Given the description of an element on the screen output the (x, y) to click on. 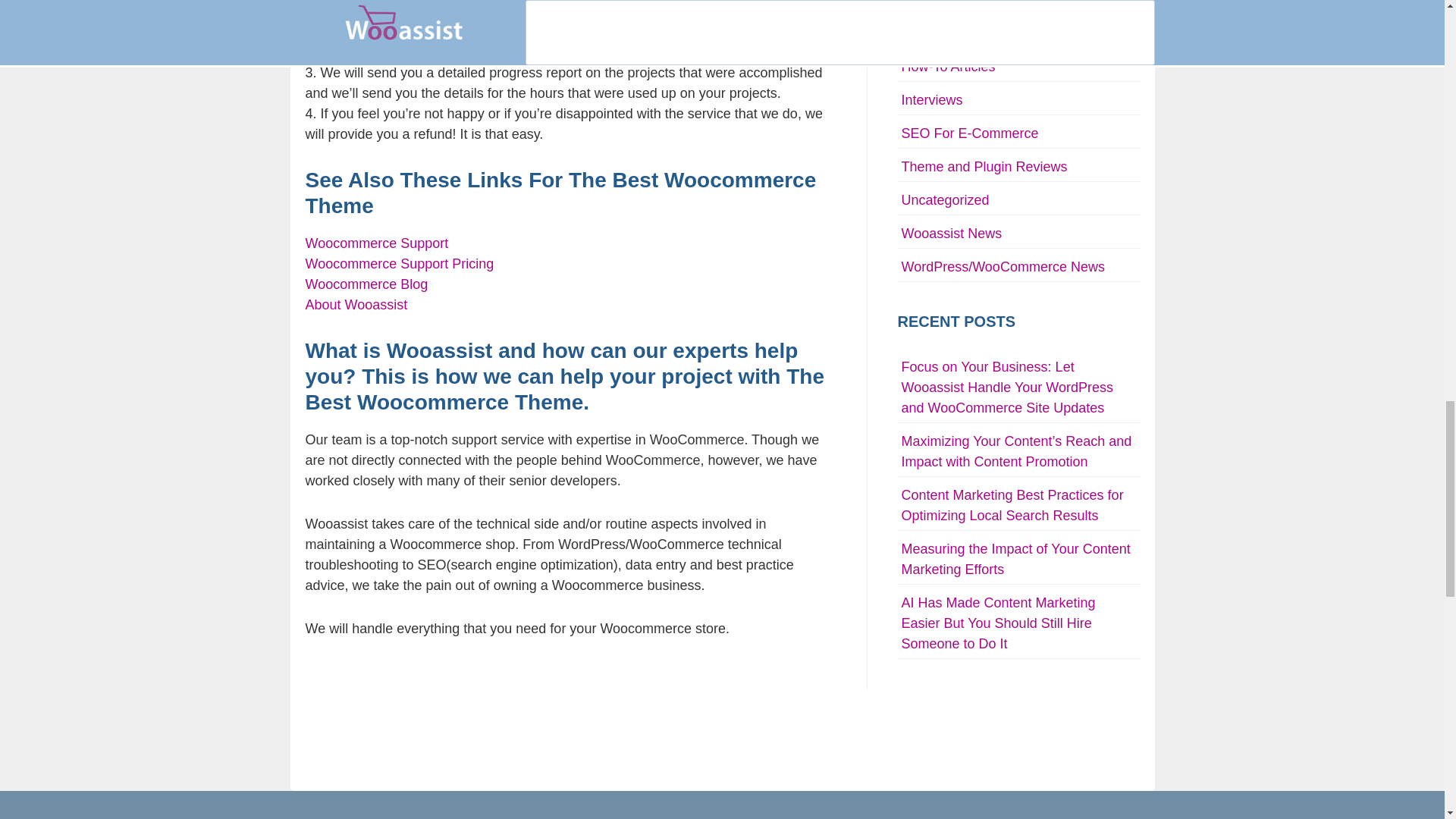
SEO For E-Commerce (969, 133)
Code Snippets (945, 32)
How-To Articles (947, 66)
About Wooassist (355, 304)
Woocommerce Support Pricing (398, 263)
Woocommerce Blog (366, 283)
Interviews (931, 99)
Woocommerce Support (376, 242)
